Given the description of an element on the screen output the (x, y) to click on. 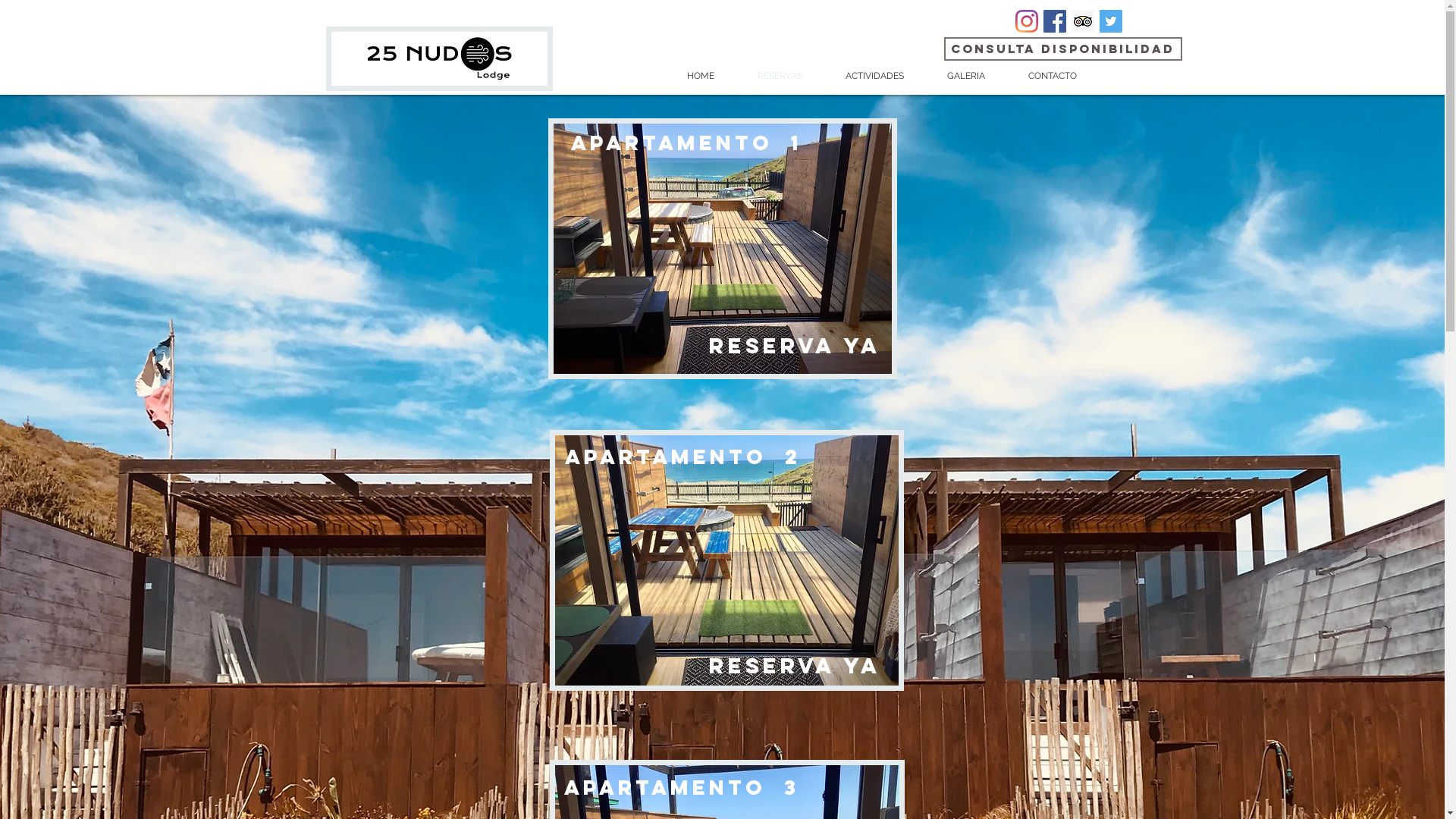
RESERVA YA Element type: text (793, 345)
RESERVAS Element type: text (768, 75)
CONTACTO Element type: text (1042, 75)
HOME Element type: text (690, 75)
RESERVA YA Element type: text (793, 666)
CONSULTA DISPONIBILIDAD Element type: text (1062, 48)
GALERIA Element type: text (954, 75)
ACTIVIDADES Element type: text (863, 75)
